Given the description of an element on the screen output the (x, y) to click on. 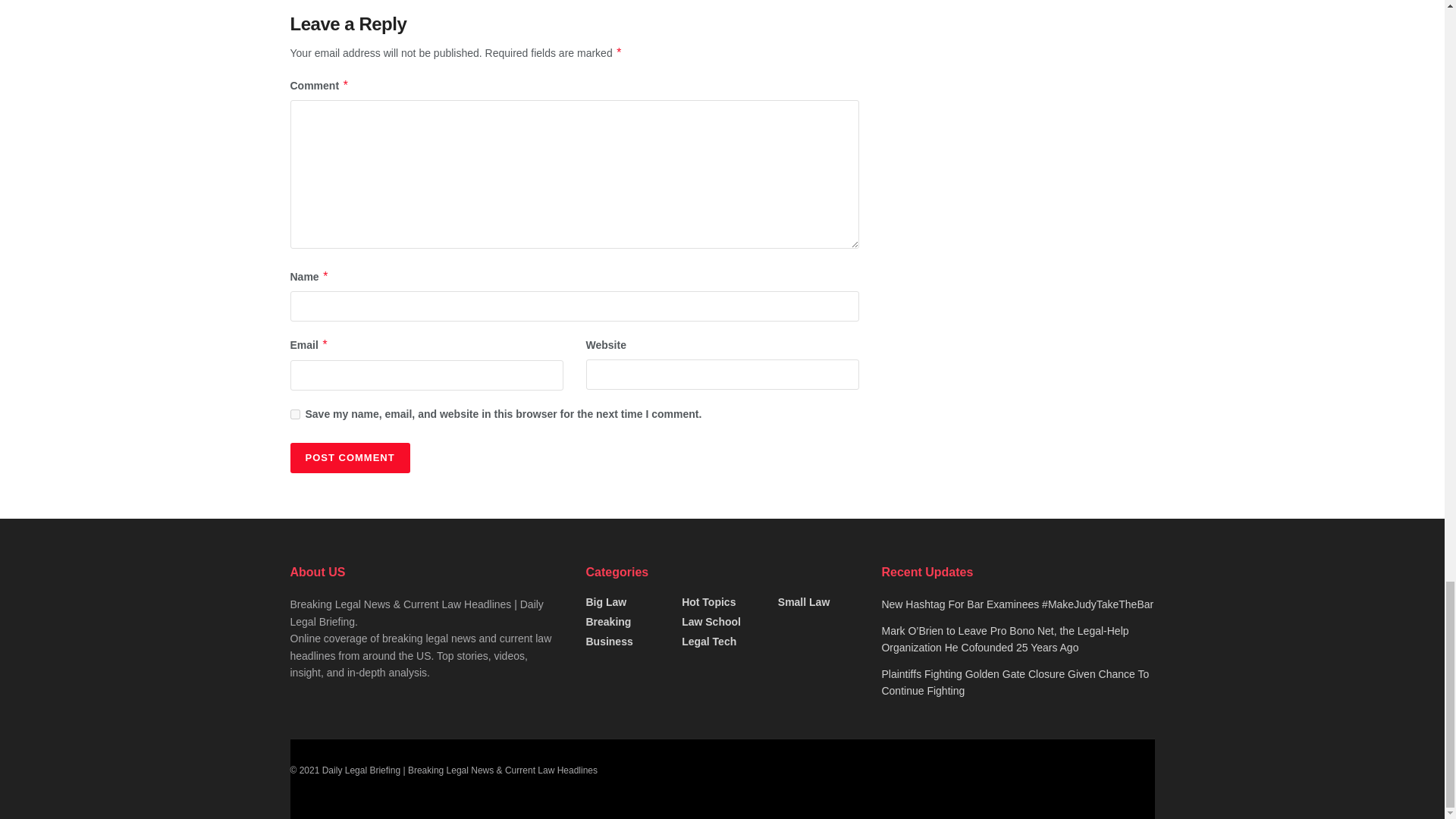
Post Comment (349, 458)
yes (294, 414)
